Given the description of an element on the screen output the (x, y) to click on. 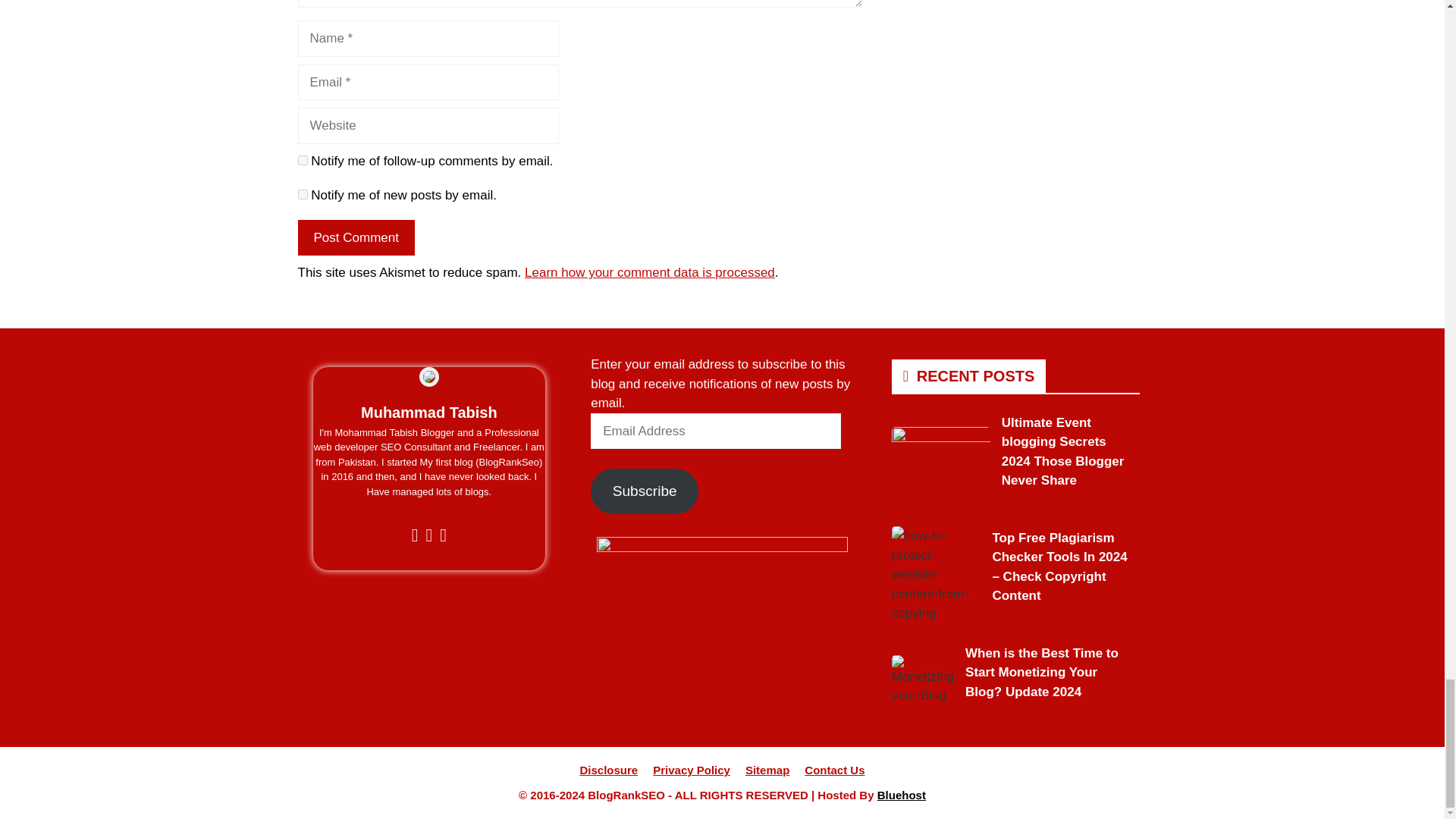
Post Comment (355, 238)
subscribe (302, 160)
subscribe (302, 194)
